Given the description of an element on the screen output the (x, y) to click on. 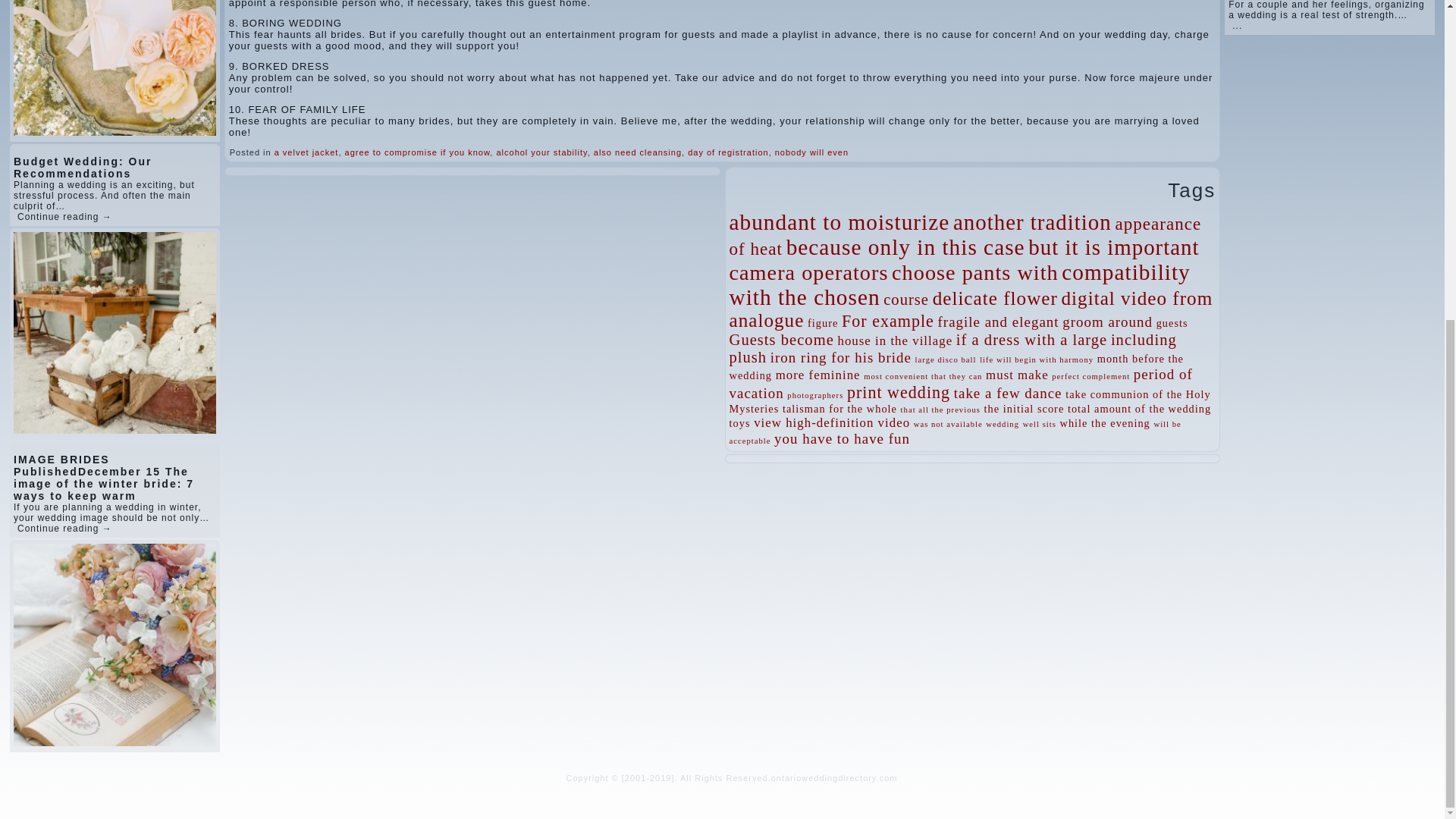
camera operators (808, 272)
because only in this case (905, 247)
delicate flower (995, 298)
guests (1172, 322)
For example (887, 321)
another tradition (1032, 221)
nobody will even (811, 152)
14 topics (1032, 221)
also need cleansing (637, 152)
abundant to moisturize (839, 221)
course (905, 299)
figure (823, 322)
alcohol your stability (541, 152)
groom around (1107, 321)
choose pants with (974, 272)
